Given the description of an element on the screen output the (x, y) to click on. 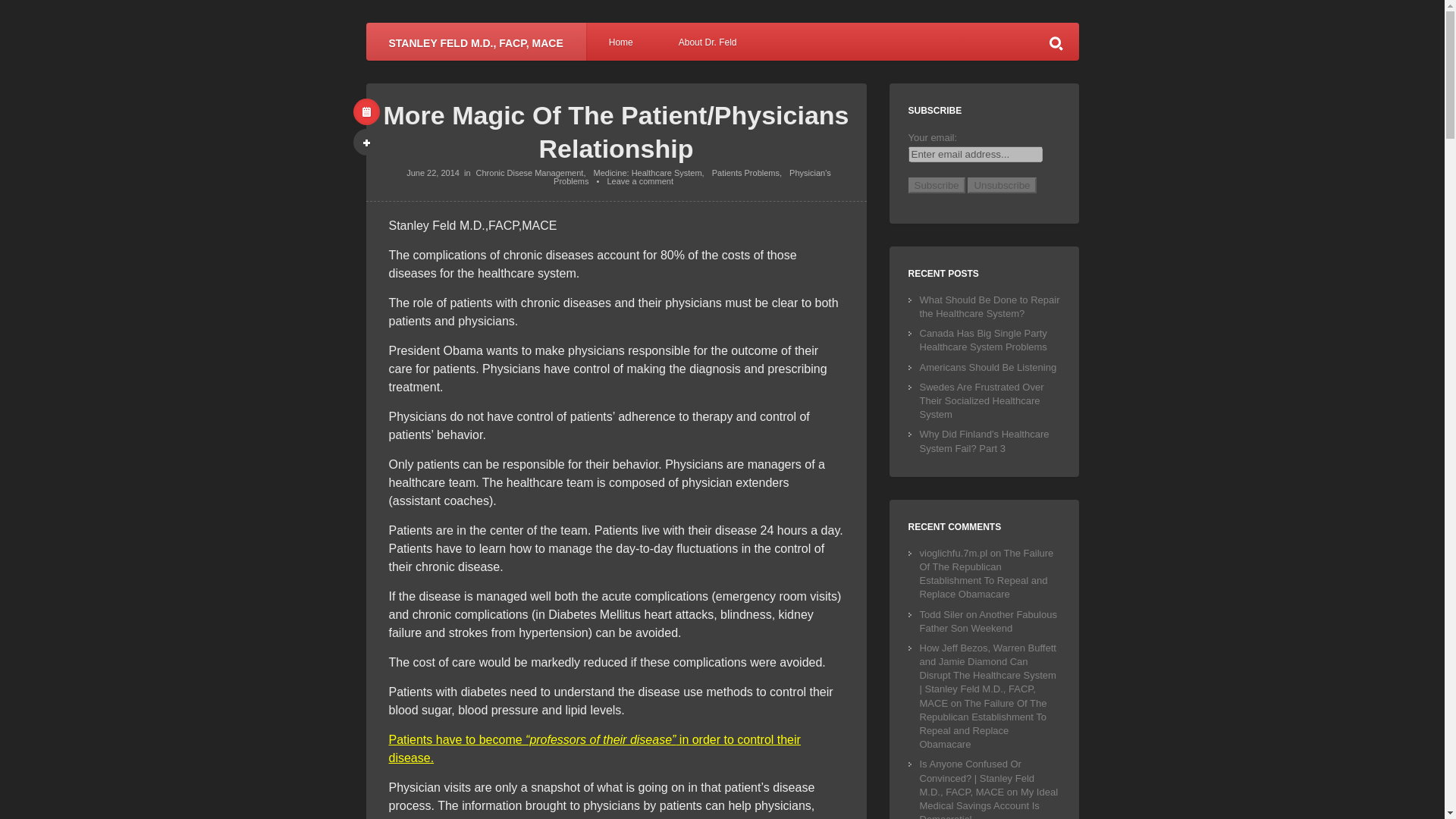
Chronic Disese Management (529, 172)
Home (621, 41)
Subscribe (936, 185)
June 22, 2014 (433, 172)
Unsubscribe (1001, 185)
Another Fabulous Father Son Weekend (987, 621)
STANLEY FELD M.D., FACP, MACE (475, 41)
